Given the description of an element on the screen output the (x, y) to click on. 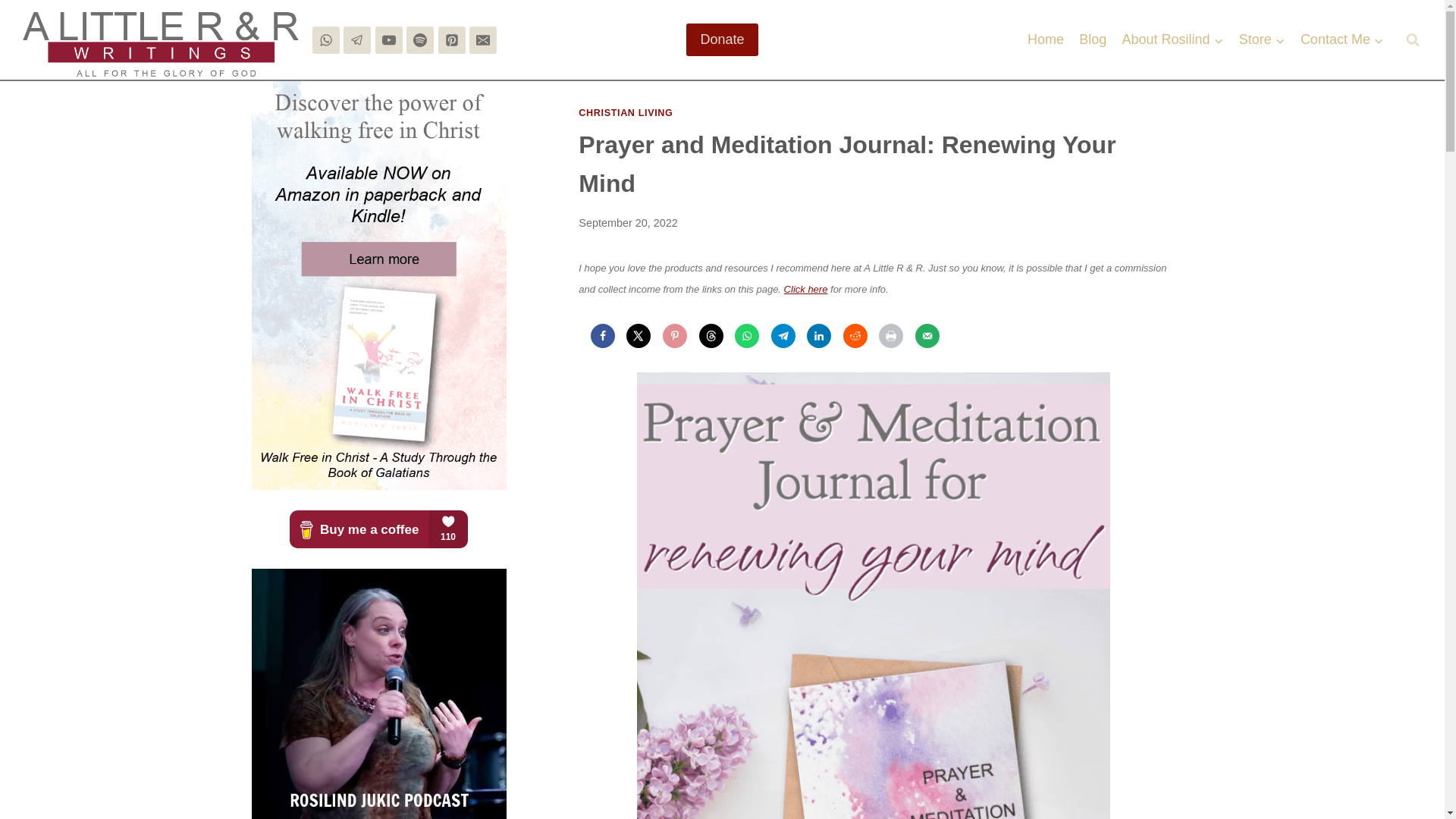
Send over email (927, 335)
About Rosilind (1171, 39)
Share on Telegram (782, 335)
Click here (806, 288)
Contact Me (1341, 39)
Share on LinkedIn (818, 335)
Home (1045, 39)
Blog (1092, 39)
Share on Threads (710, 335)
Print this webpage (890, 335)
